Given the description of an element on the screen output the (x, y) to click on. 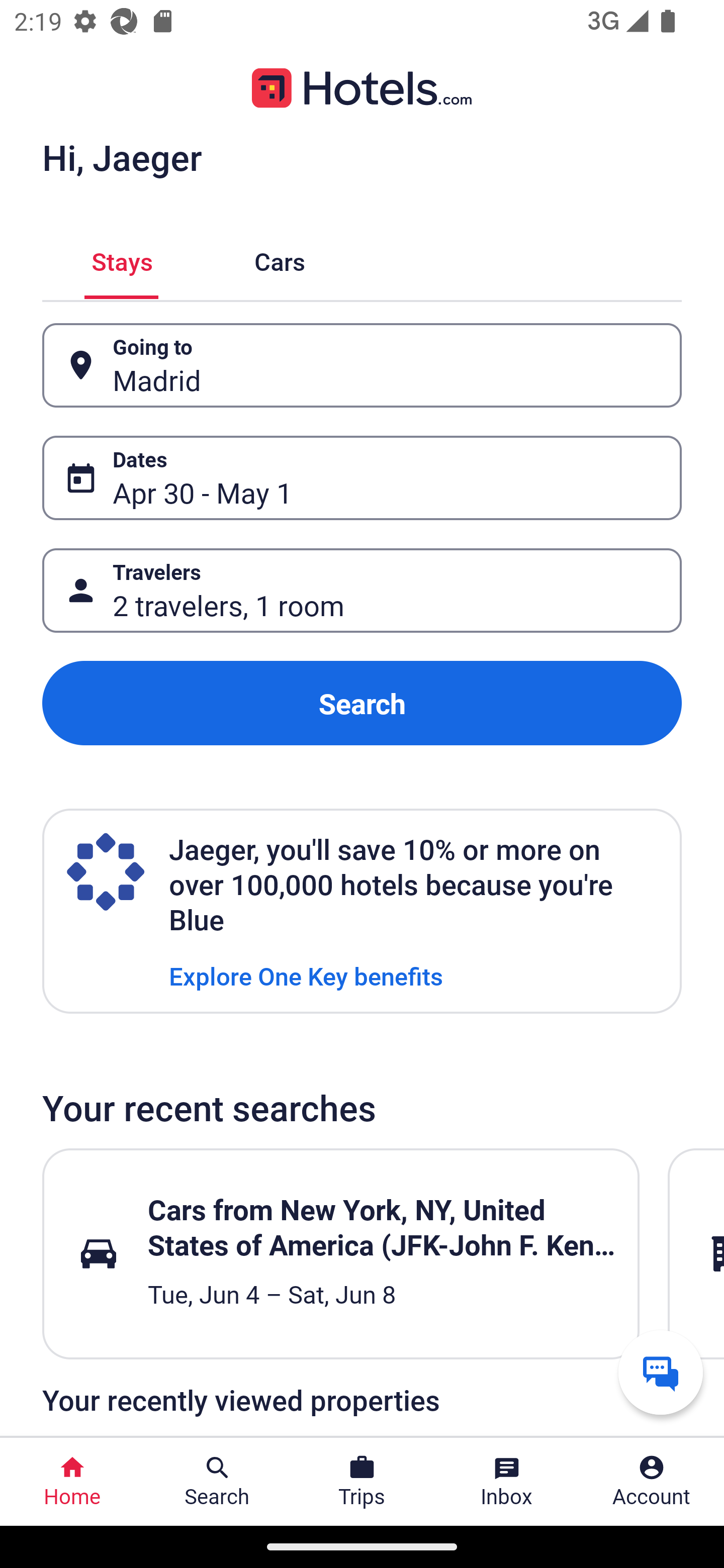
Hi, Jaeger (121, 156)
Cars (279, 259)
Going to Button Madrid (361, 365)
Dates Button Apr 30 - May 1 (361, 477)
Travelers Button 2 travelers, 1 room (361, 590)
Search (361, 702)
Get help from a virtual agent (660, 1371)
Search Search Button (216, 1481)
Trips Trips Button (361, 1481)
Inbox Inbox Button (506, 1481)
Account Profile. Button (651, 1481)
